Given the description of an element on the screen output the (x, y) to click on. 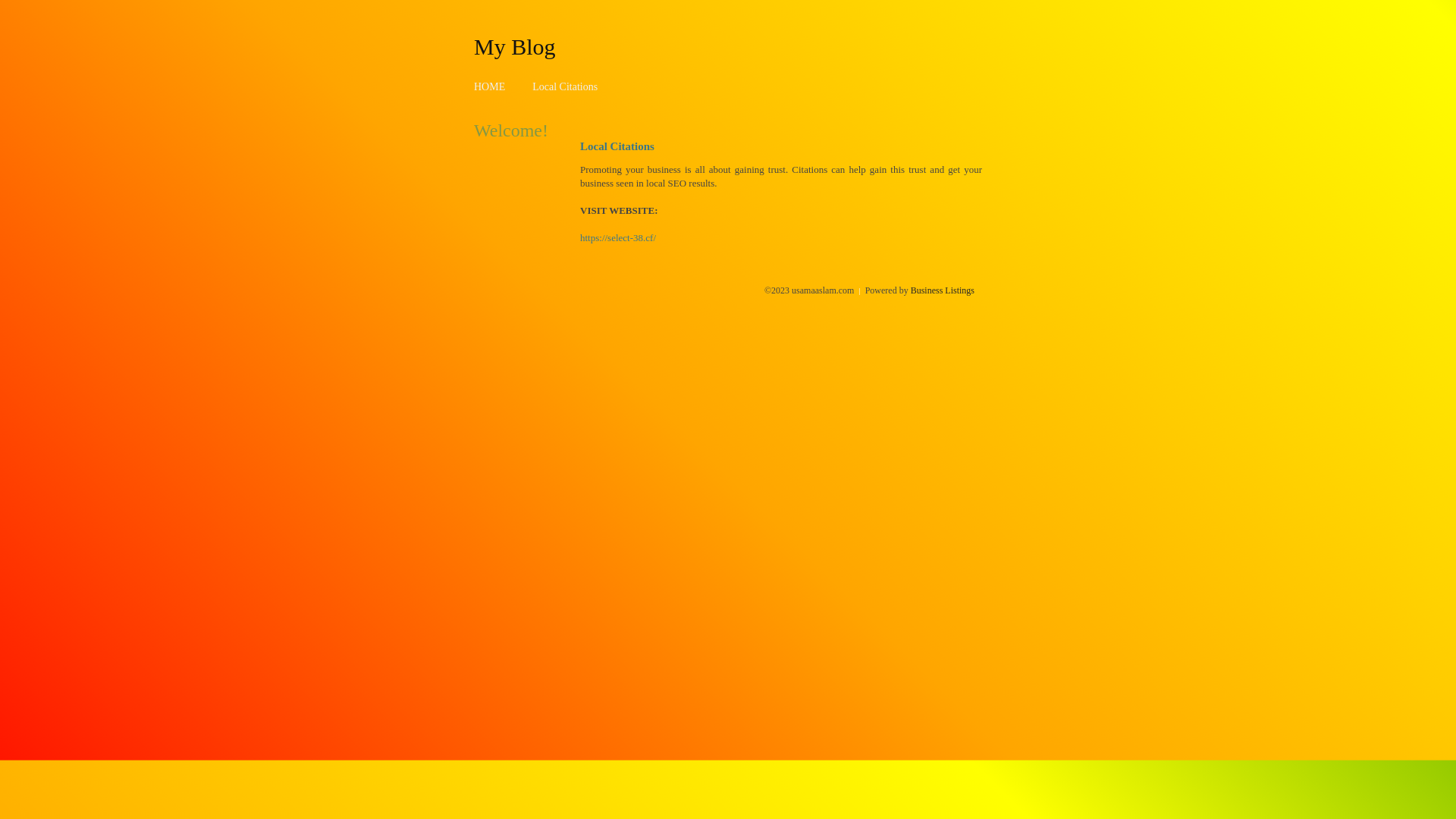
Business Listings Element type: text (942, 290)
https://select-38.cf/ Element type: text (617, 237)
My Blog Element type: text (514, 46)
Local Citations Element type: text (564, 86)
HOME Element type: text (489, 86)
